Given the description of an element on the screen output the (x, y) to click on. 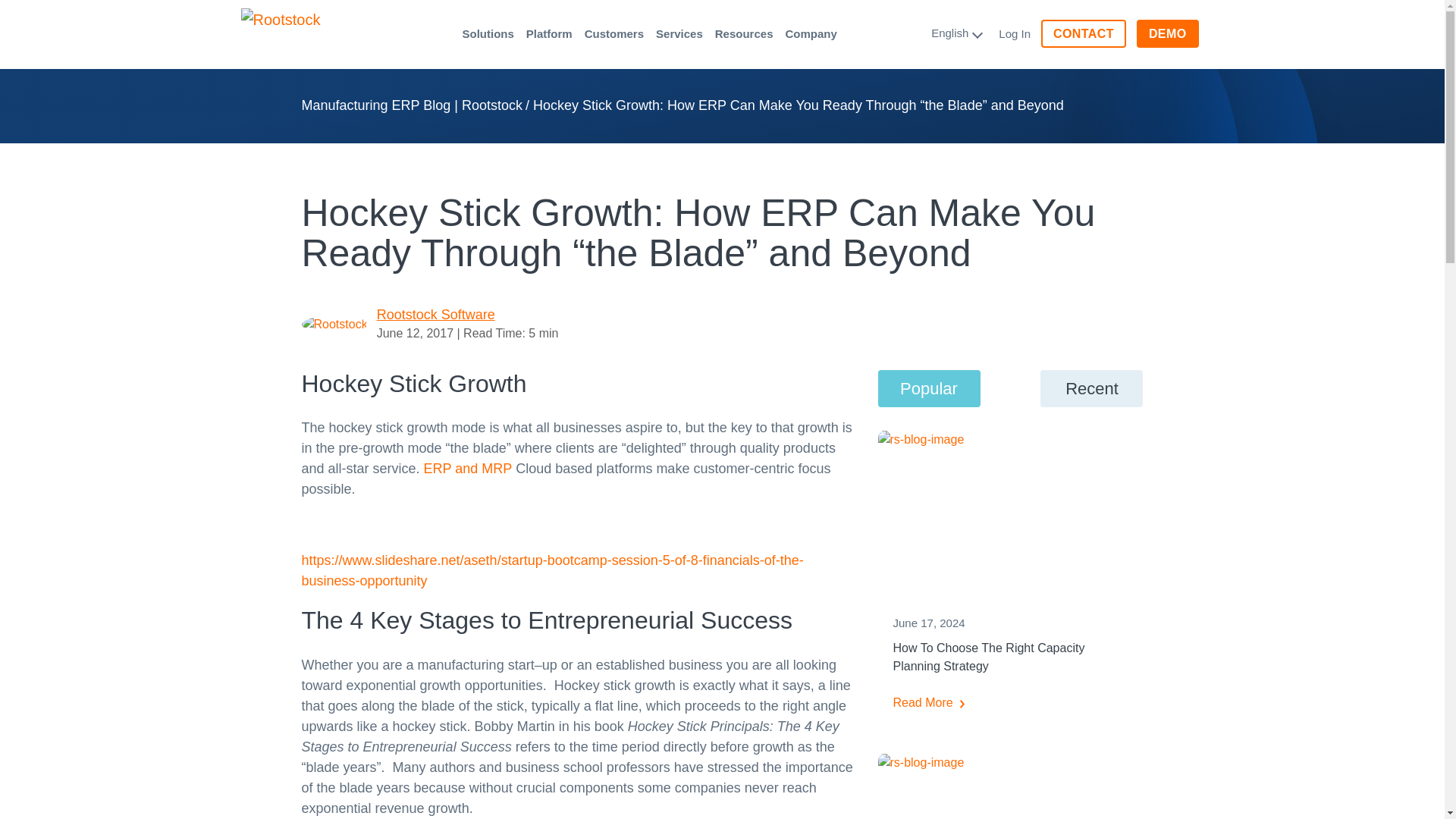
Log In (1014, 34)
DEMO (1167, 33)
Solutions (488, 33)
CONTACT (1083, 33)
